Given the description of an element on the screen output the (x, y) to click on. 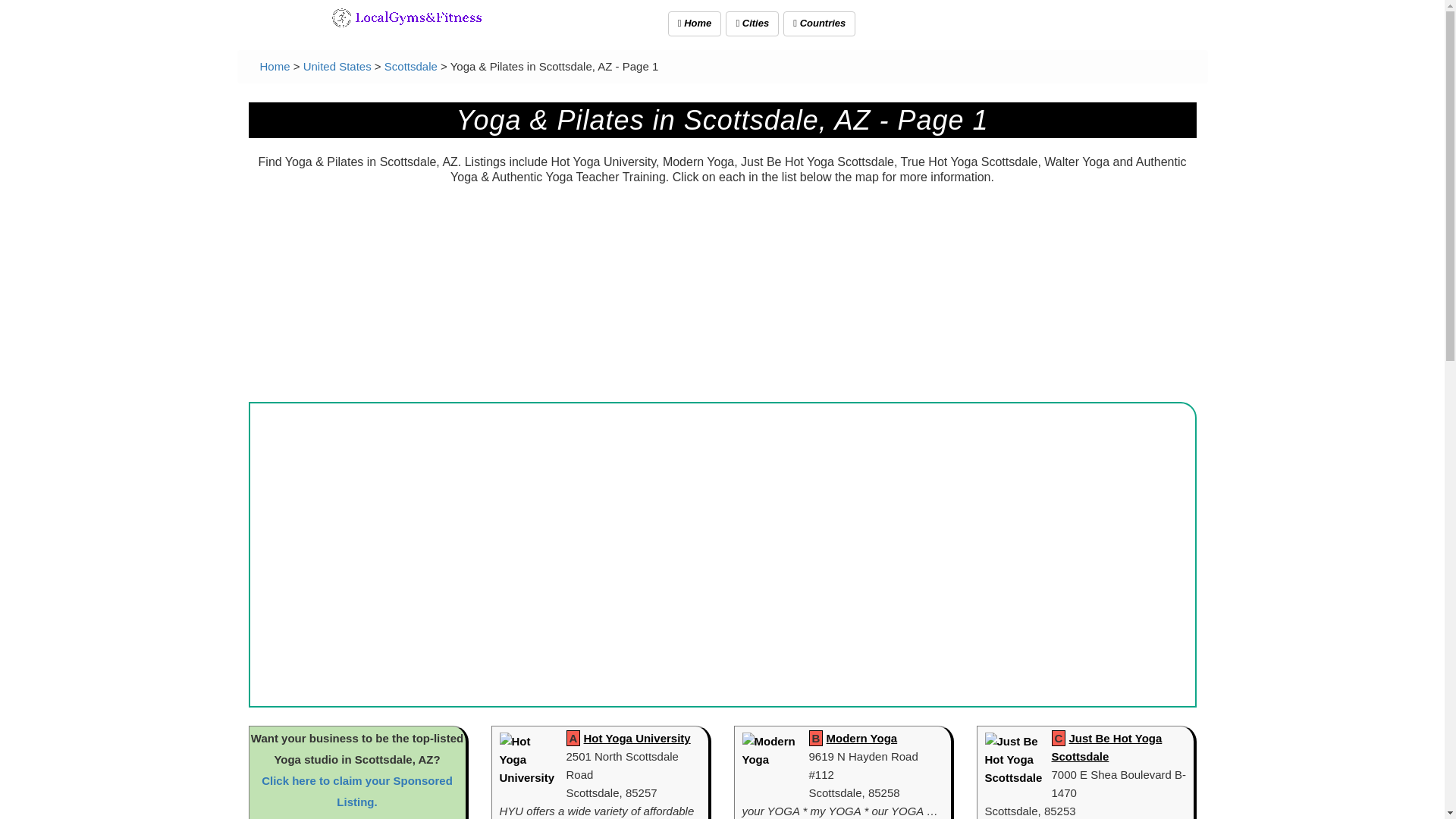
Modern Yoga (862, 738)
Scottsdale (411, 65)
Home (274, 65)
Hot Yoga University (636, 738)
Click here to claim your Sponsored Listing. (357, 790)
Countries (819, 23)
United States (336, 65)
Home (274, 65)
Cities (751, 23)
Just Be Hot Yoga Scottsdale (1106, 747)
